Given the description of an element on the screen output the (x, y) to click on. 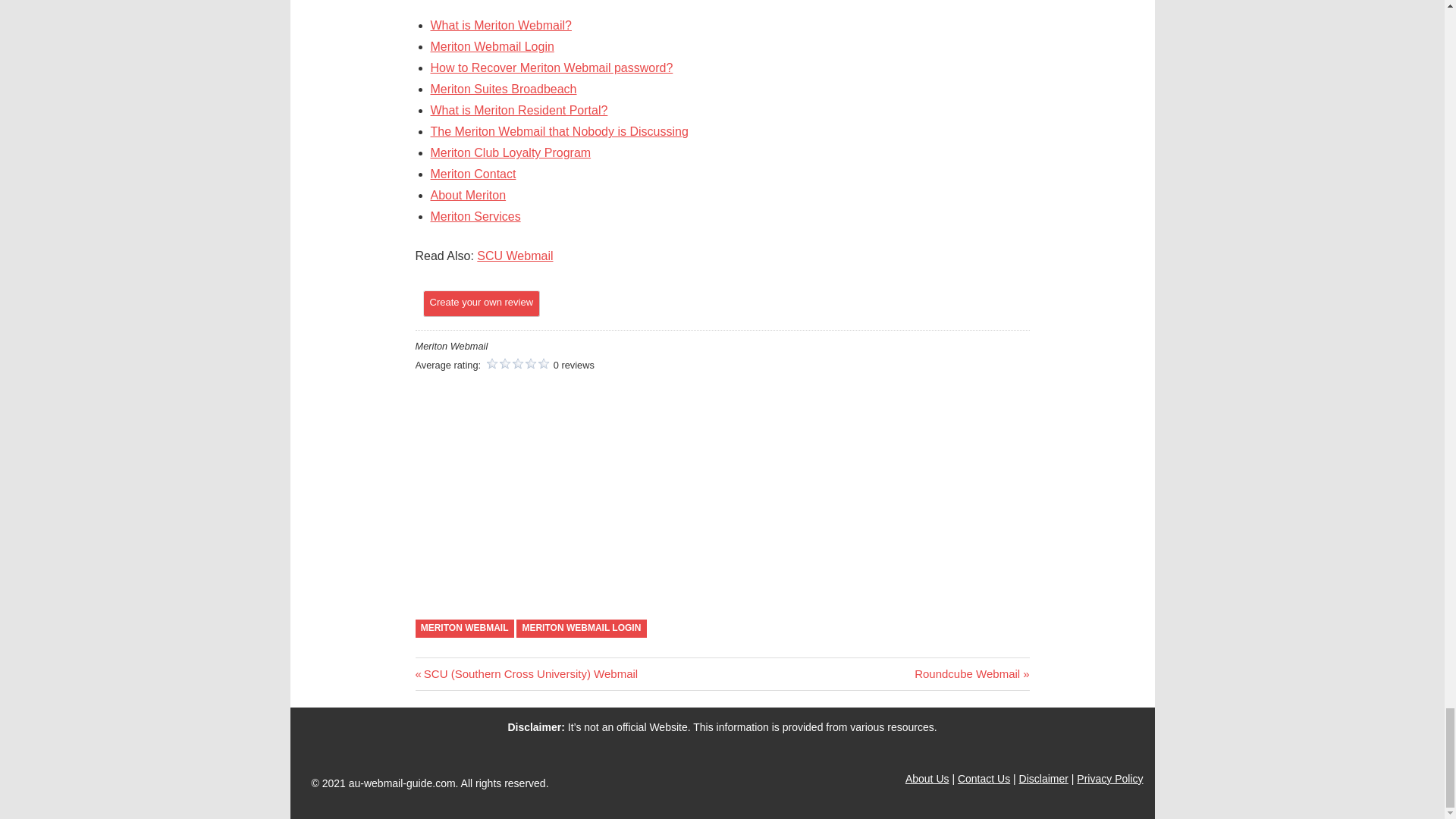
SCU Webmail (515, 255)
What is Meriton Webmail? (501, 24)
Meriton Suites Broadbeach (503, 88)
About Us (927, 778)
What is Meriton Resident Portal? (519, 110)
The Meriton Webmail that Nobody is Discussing (971, 673)
Meriton Services (559, 131)
Contact Us (475, 215)
Disclaimer (984, 778)
